Given the description of an element on the screen output the (x, y) to click on. 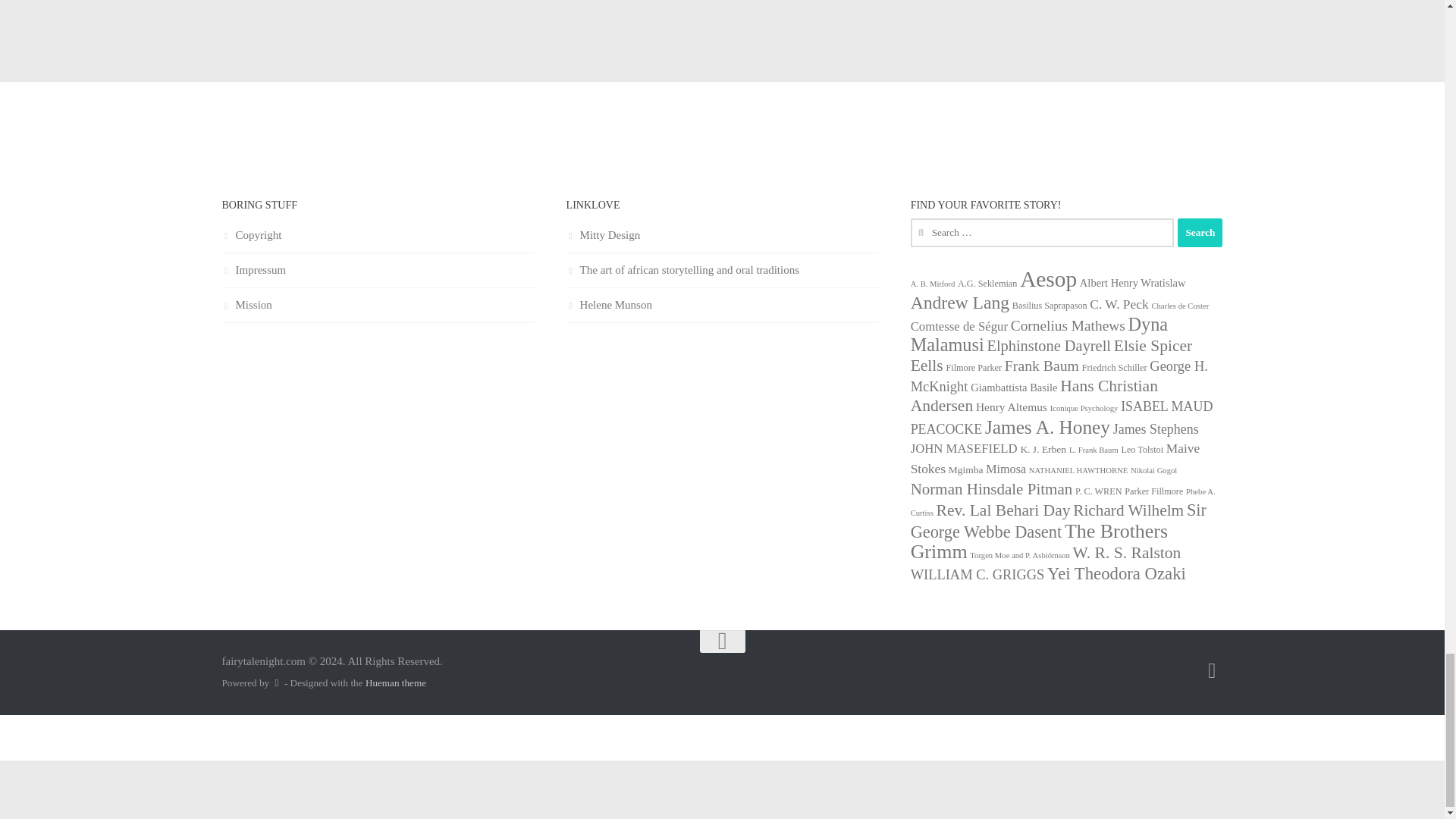
Search (1200, 232)
Search (1200, 232)
